Given the description of an element on the screen output the (x, y) to click on. 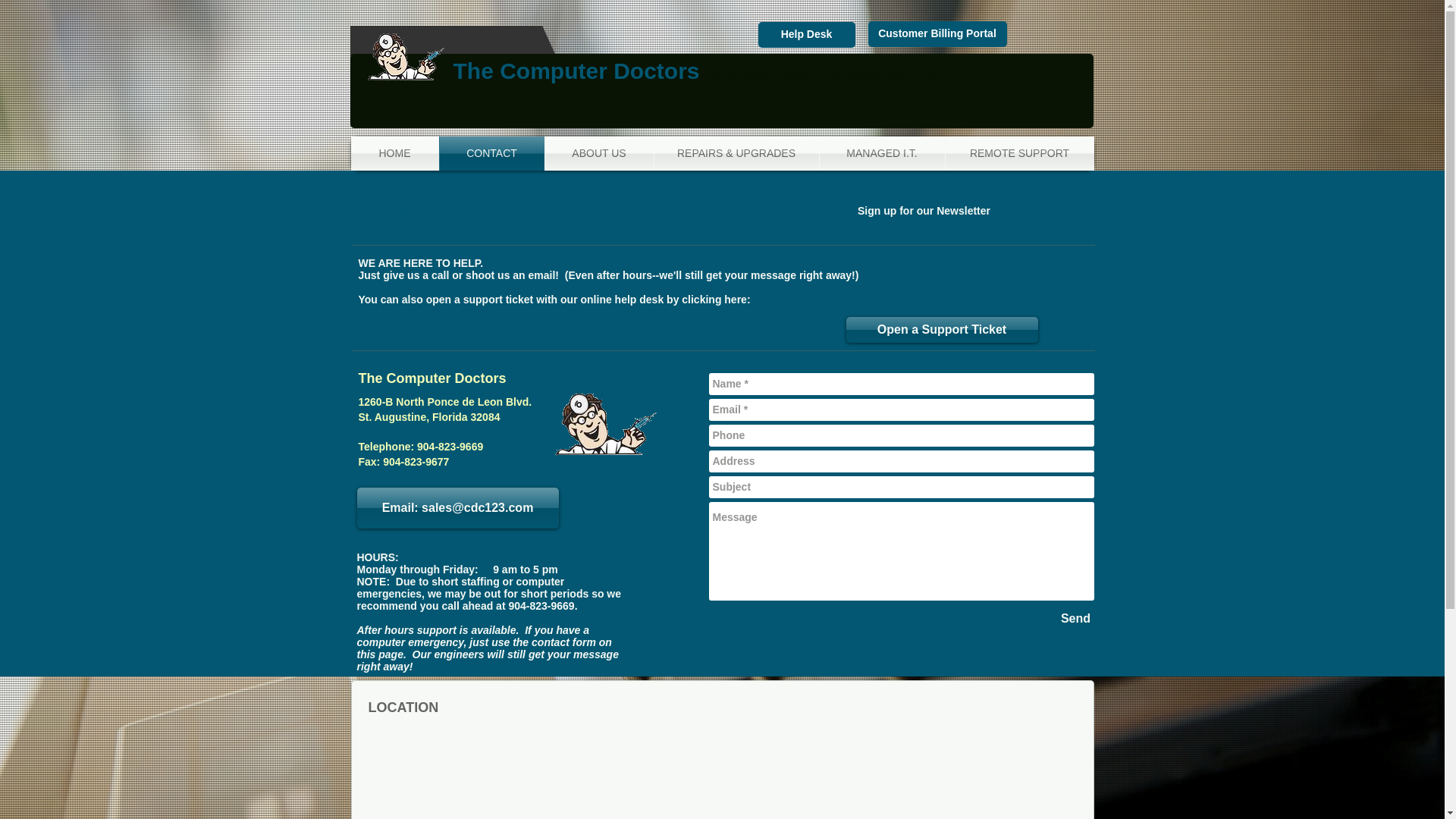
HOME (394, 153)
Help Desk (807, 34)
CONTACT (491, 153)
Sign up for our Newsletter (924, 211)
ABOUT US (598, 153)
MANAGED I.T. (880, 153)
Send (1075, 618)
REMOTE SUPPORT (1018, 153)
Open a Support Ticket (941, 329)
Customer Billing Portal (936, 33)
